Given the description of an element on the screen output the (x, y) to click on. 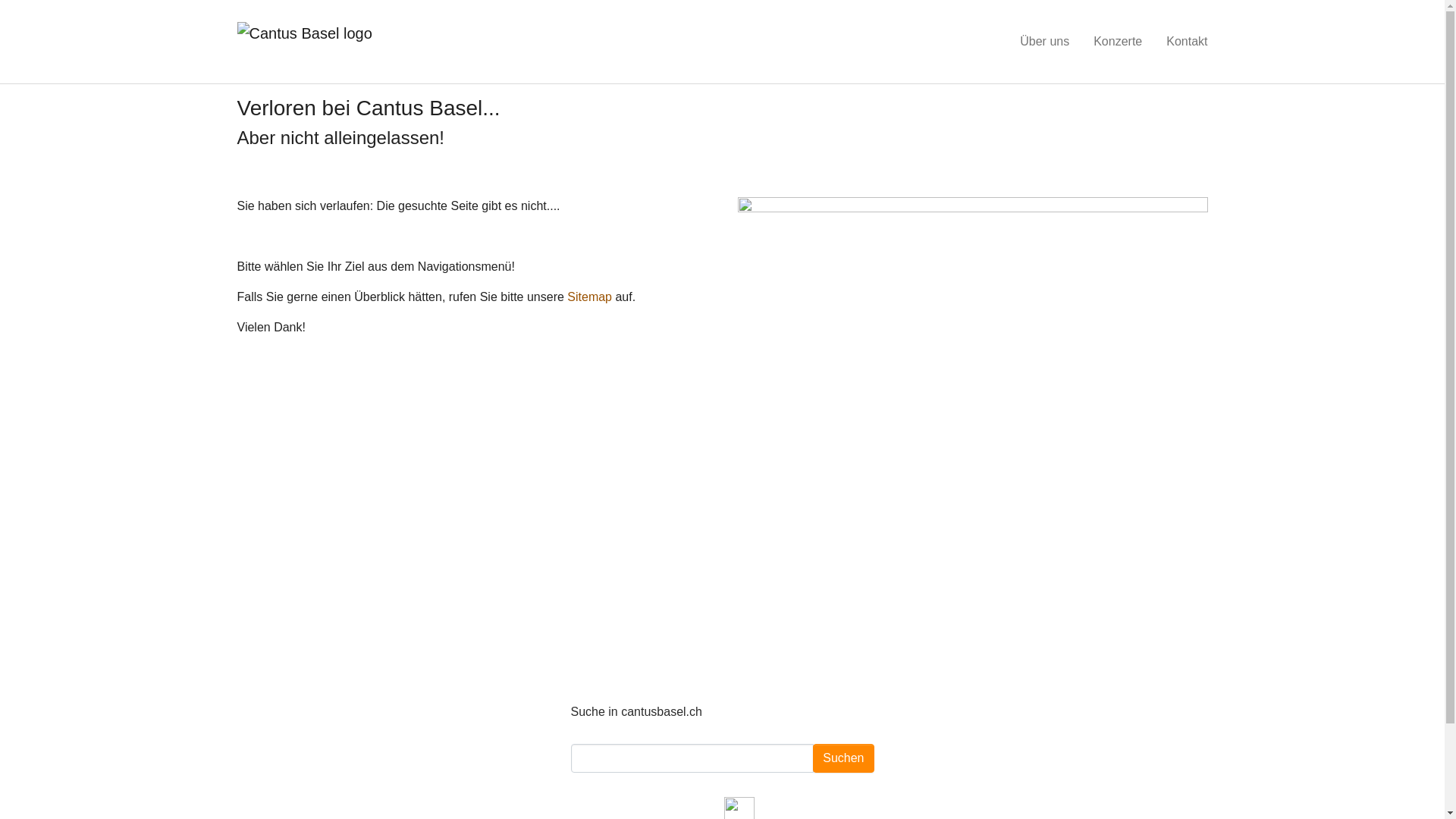
Suchen Element type: text (842, 757)
Kontakt Element type: text (1186, 41)
Konzerte Element type: text (1117, 41)
Sitemap Element type: text (589, 296)
